Given the description of an element on the screen output the (x, y) to click on. 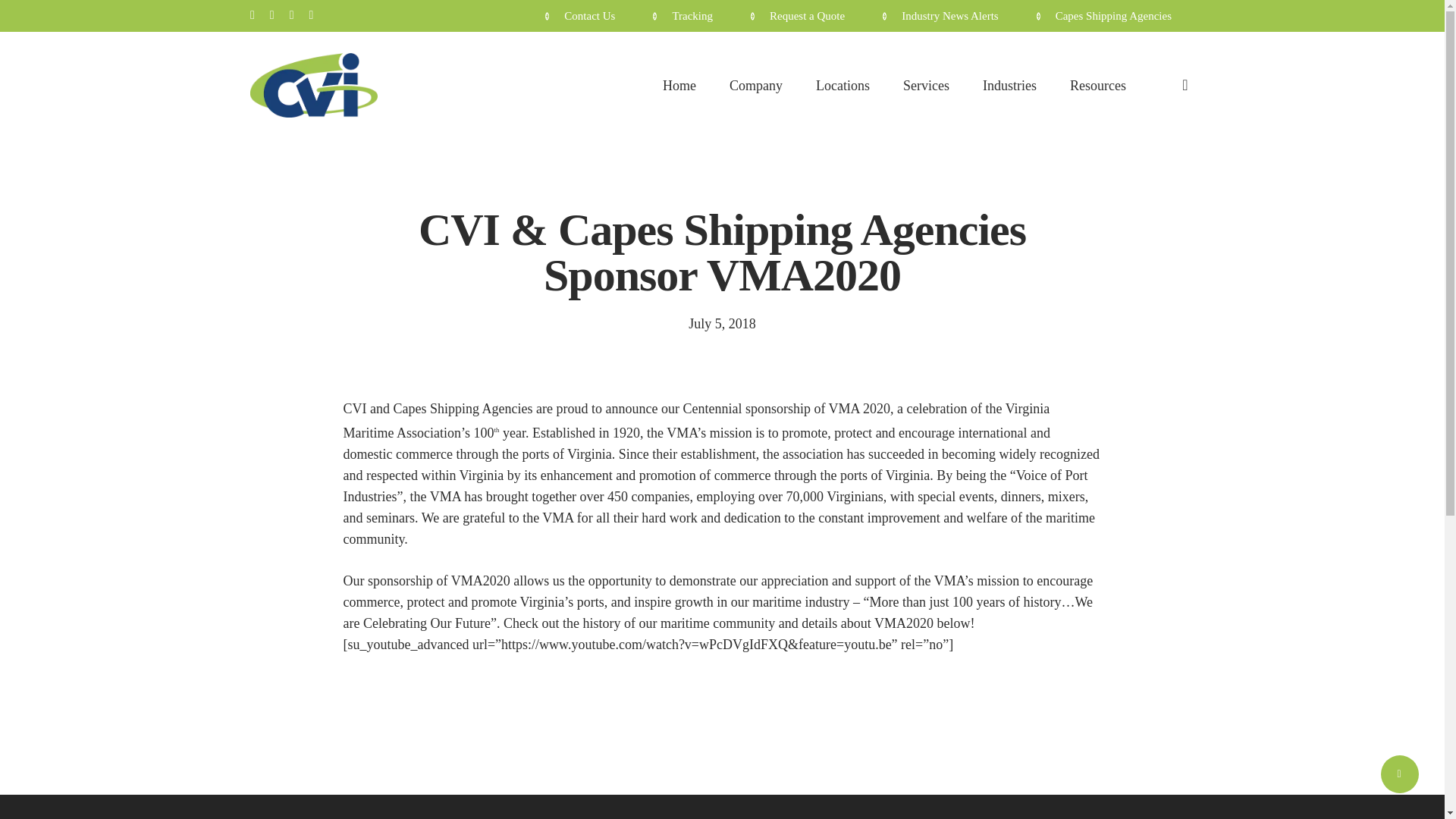
Home (678, 85)
Company (756, 85)
Locations (842, 85)
Tracking (693, 16)
Services (925, 85)
facebook (272, 15)
Contact Us (590, 16)
Request a Quote (809, 16)
linkedin (291, 15)
Capes Shipping Agencies (1114, 16)
twitter (252, 15)
instagram (311, 15)
Industry News Alerts (952, 16)
